Given the description of an element on the screen output the (x, y) to click on. 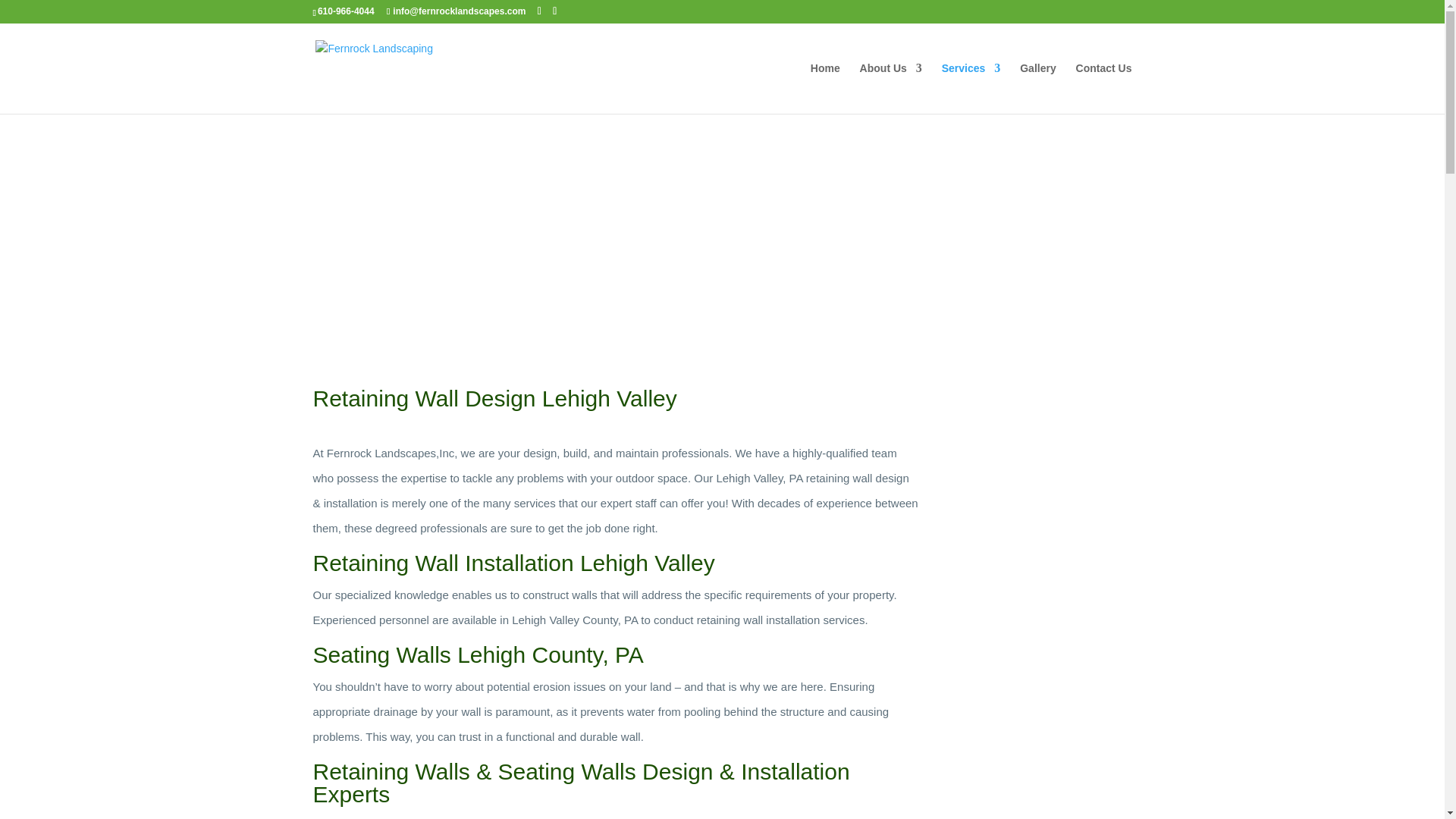
About Us (890, 88)
Contact Us (1103, 88)
Services (971, 88)
